Given the description of an element on the screen output the (x, y) to click on. 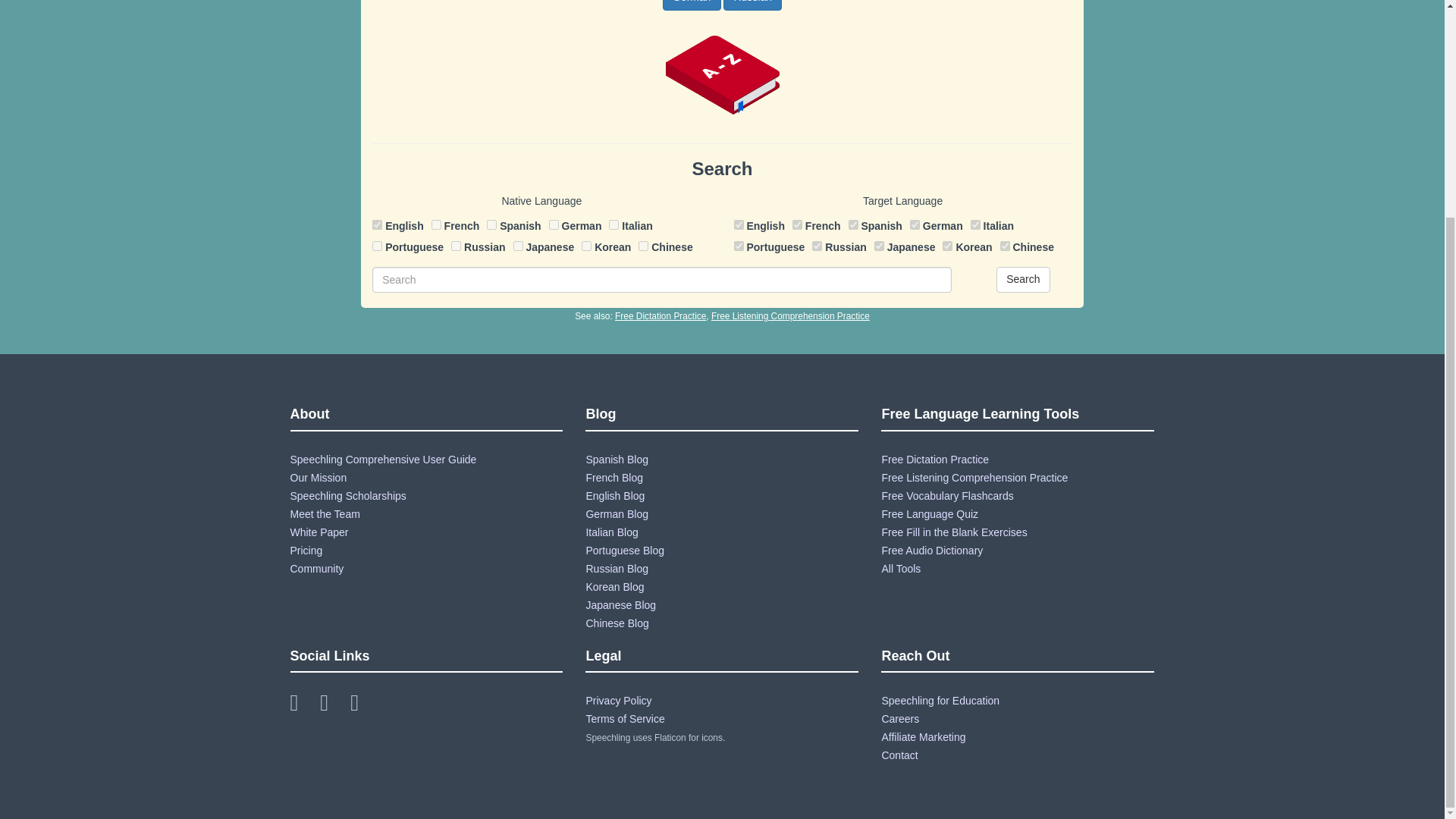
on (643, 245)
on (797, 225)
on (435, 225)
on (975, 225)
on (456, 245)
on (376, 225)
on (853, 225)
on (1005, 245)
on (553, 225)
on (879, 245)
